Given the description of an element on the screen output the (x, y) to click on. 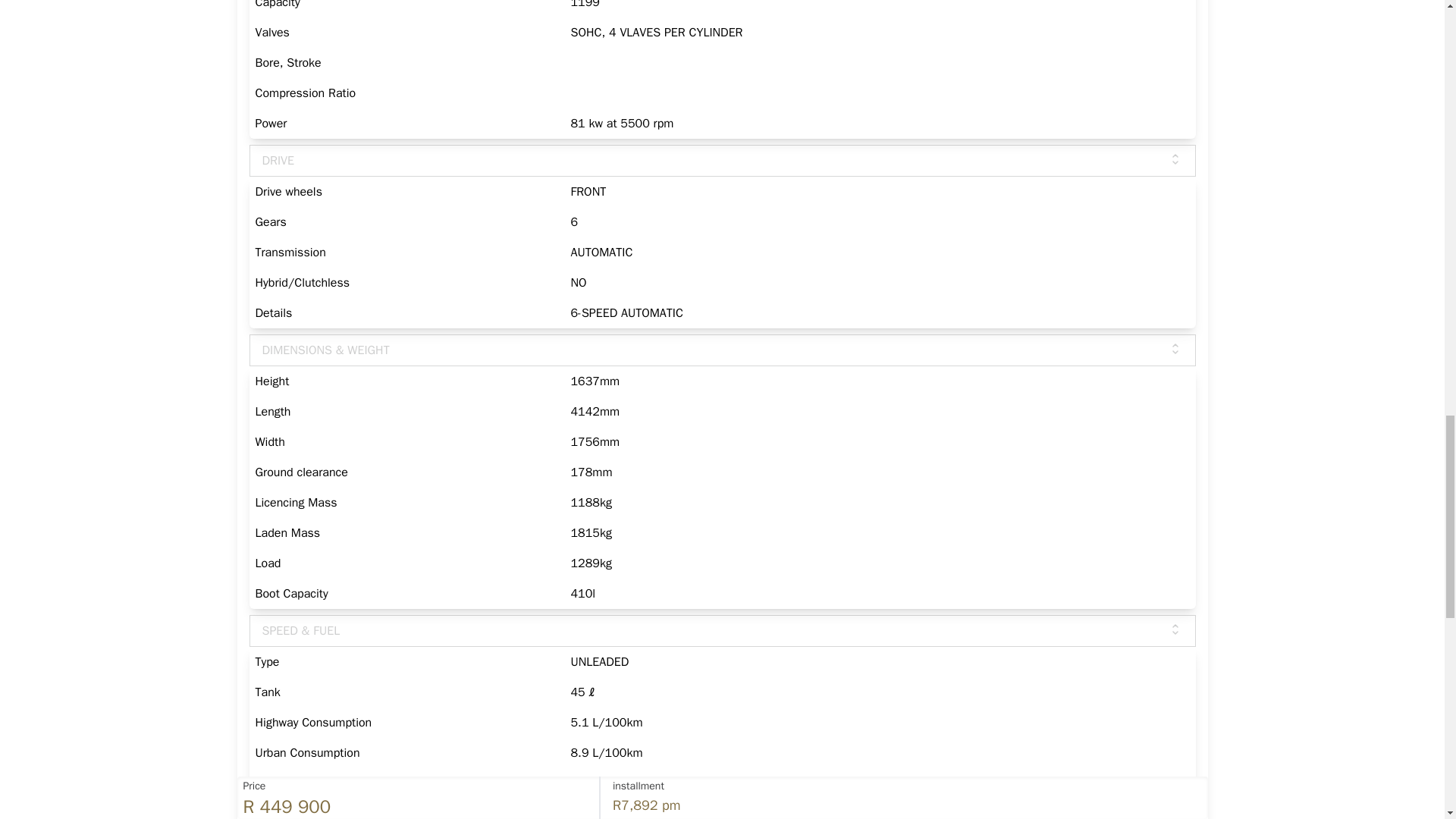
DRIVE (721, 160)
